Given the description of an element on the screen output the (x, y) to click on. 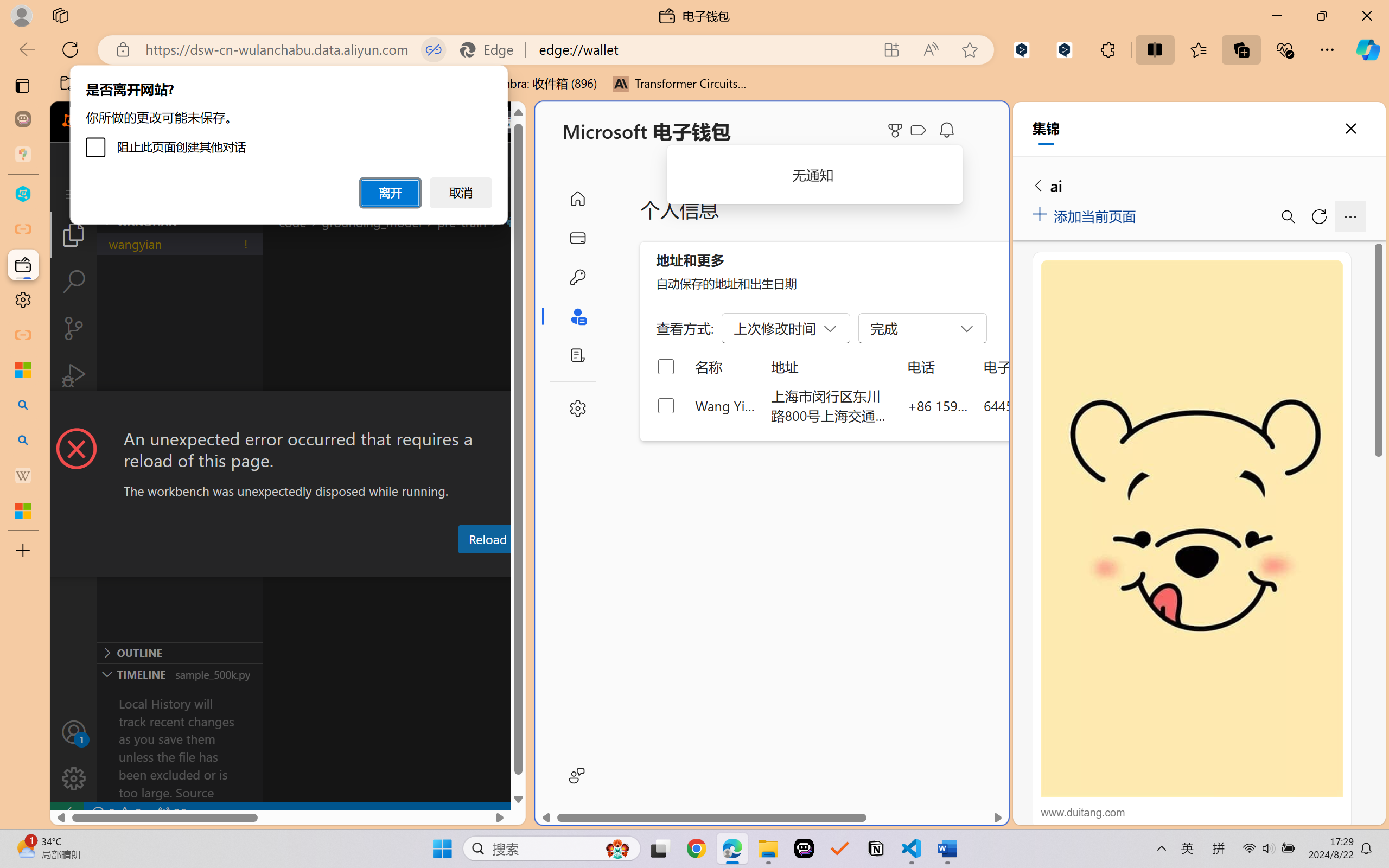
Google Chrome (696, 848)
Debug Console (Ctrl+Shift+Y) (463, 565)
